Given the description of an element on the screen output the (x, y) to click on. 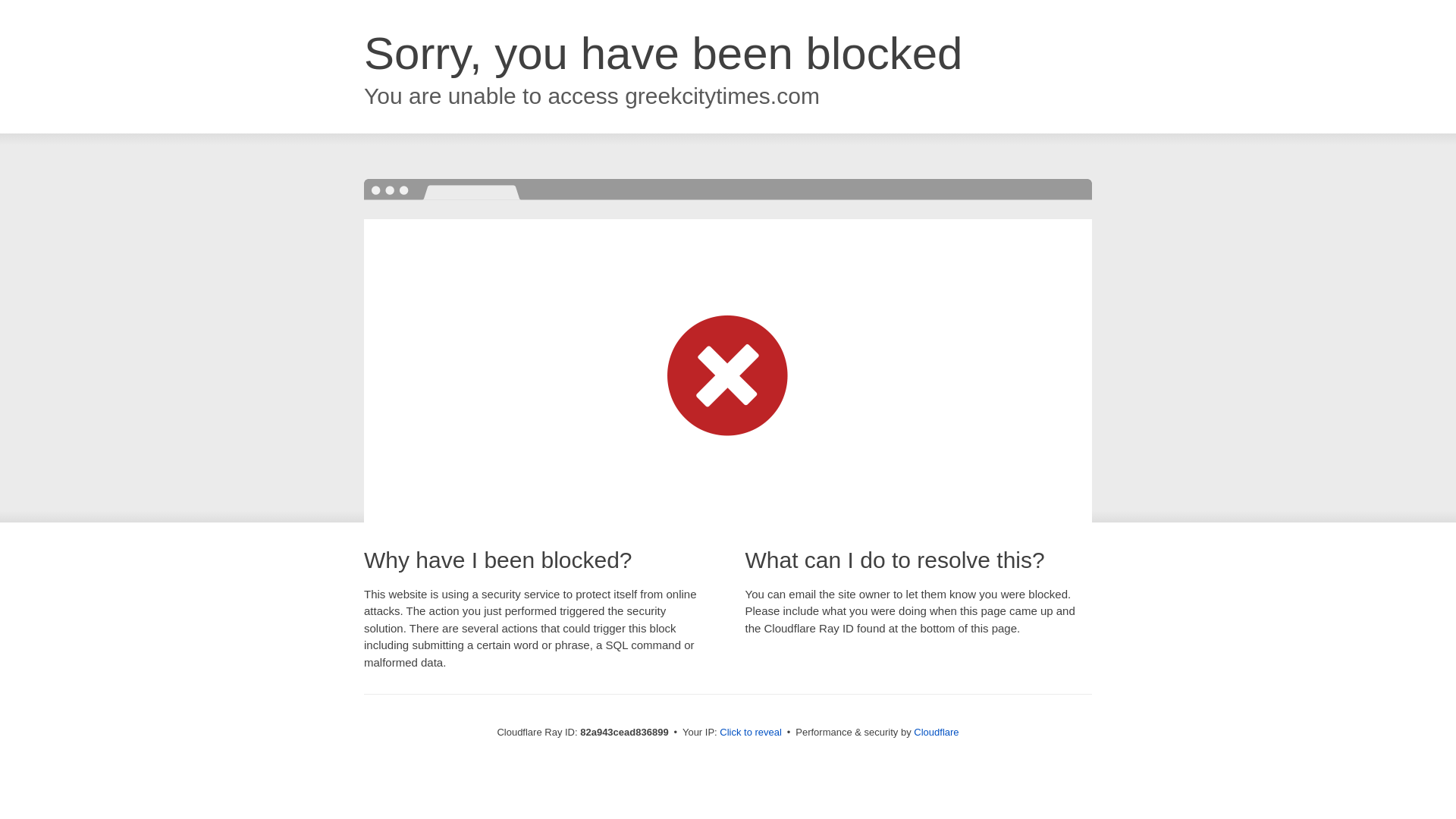
Click to reveal Element type: text (750, 732)
Cloudflare Element type: text (935, 731)
